Given the description of an element on the screen output the (x, y) to click on. 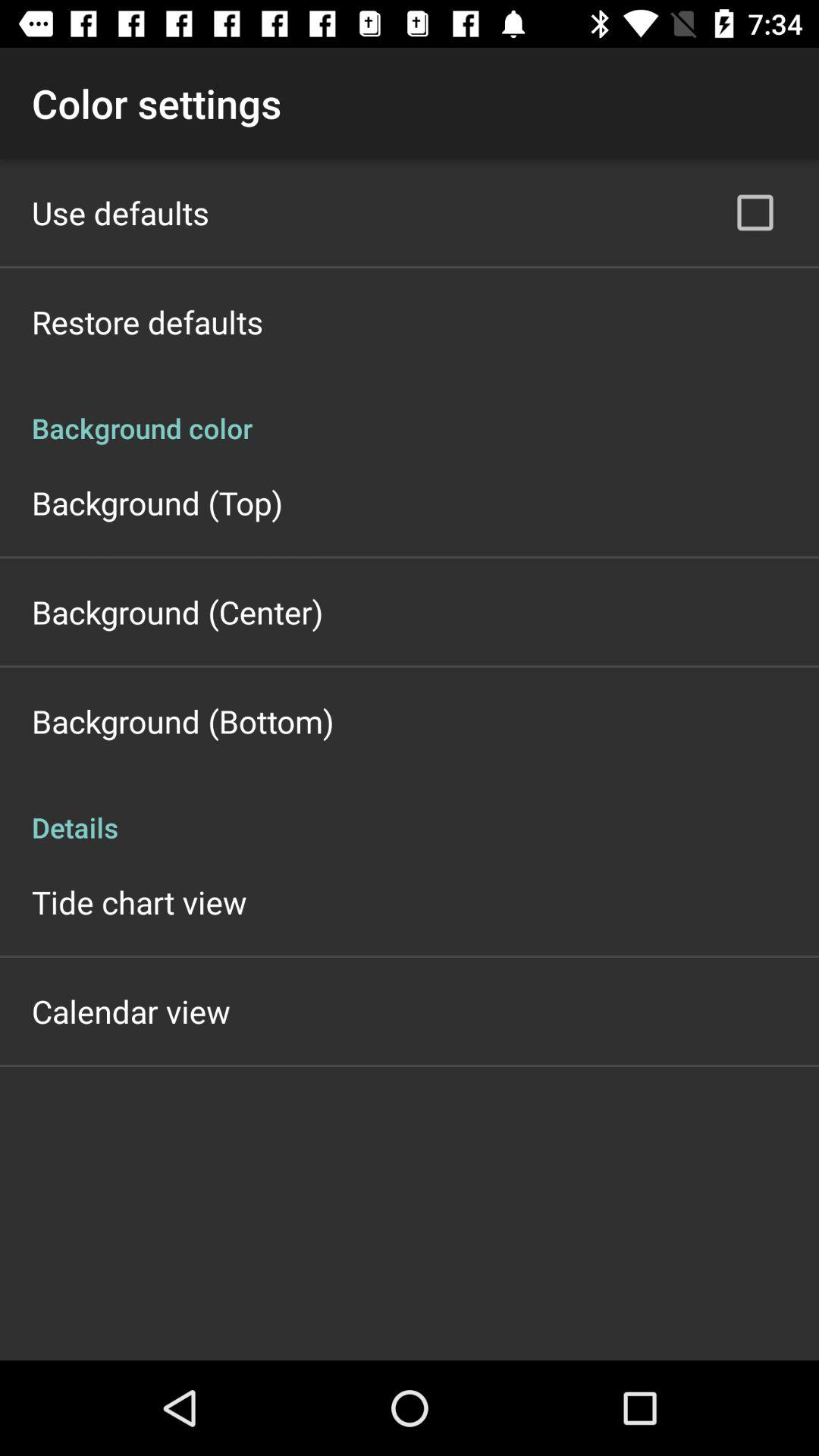
tap the app above the background (bottom) icon (177, 611)
